Given the description of an element on the screen output the (x, y) to click on. 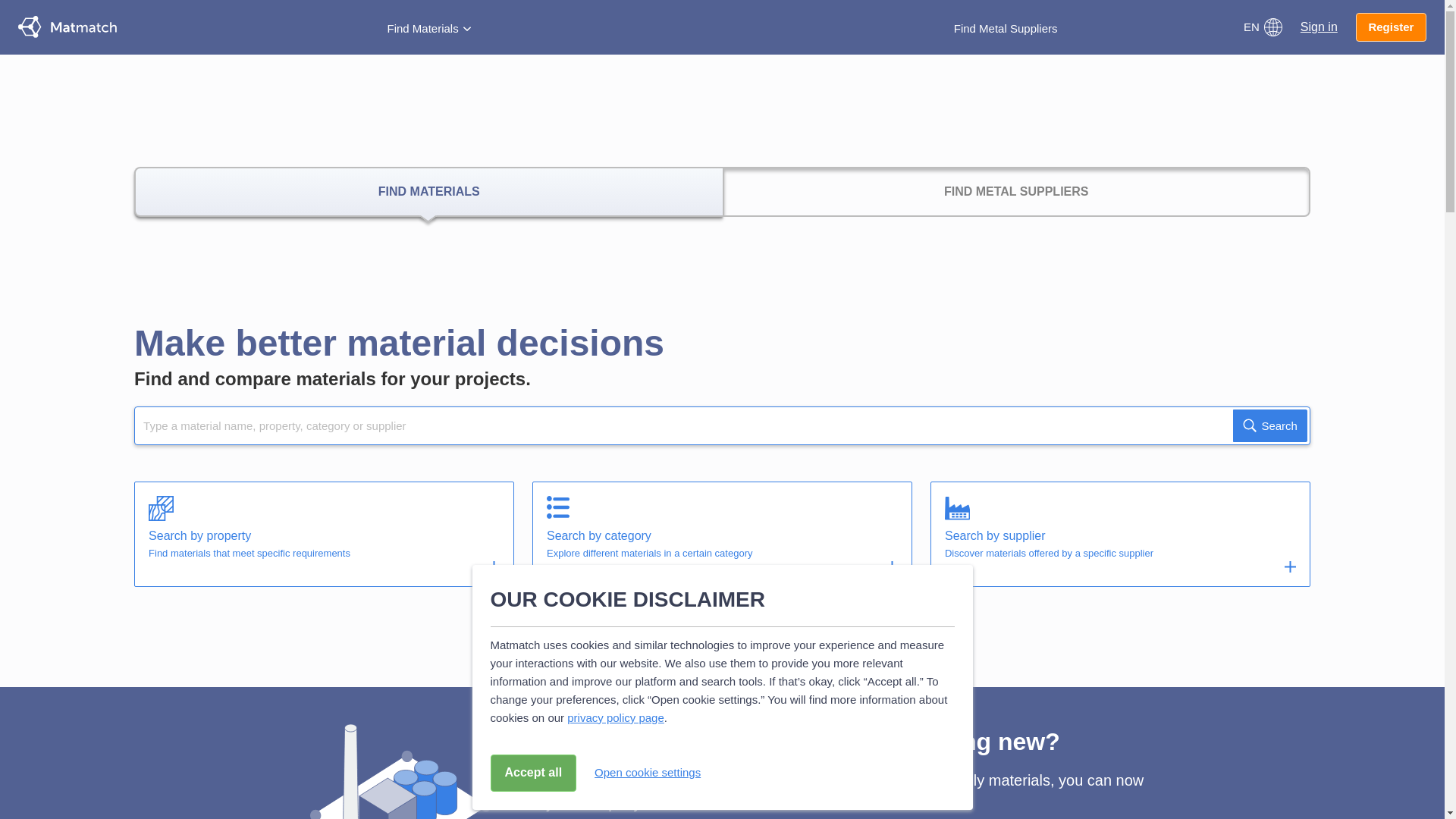
Accept all (532, 772)
privacy policy page (615, 717)
